Given the description of an element on the screen output the (x, y) to click on. 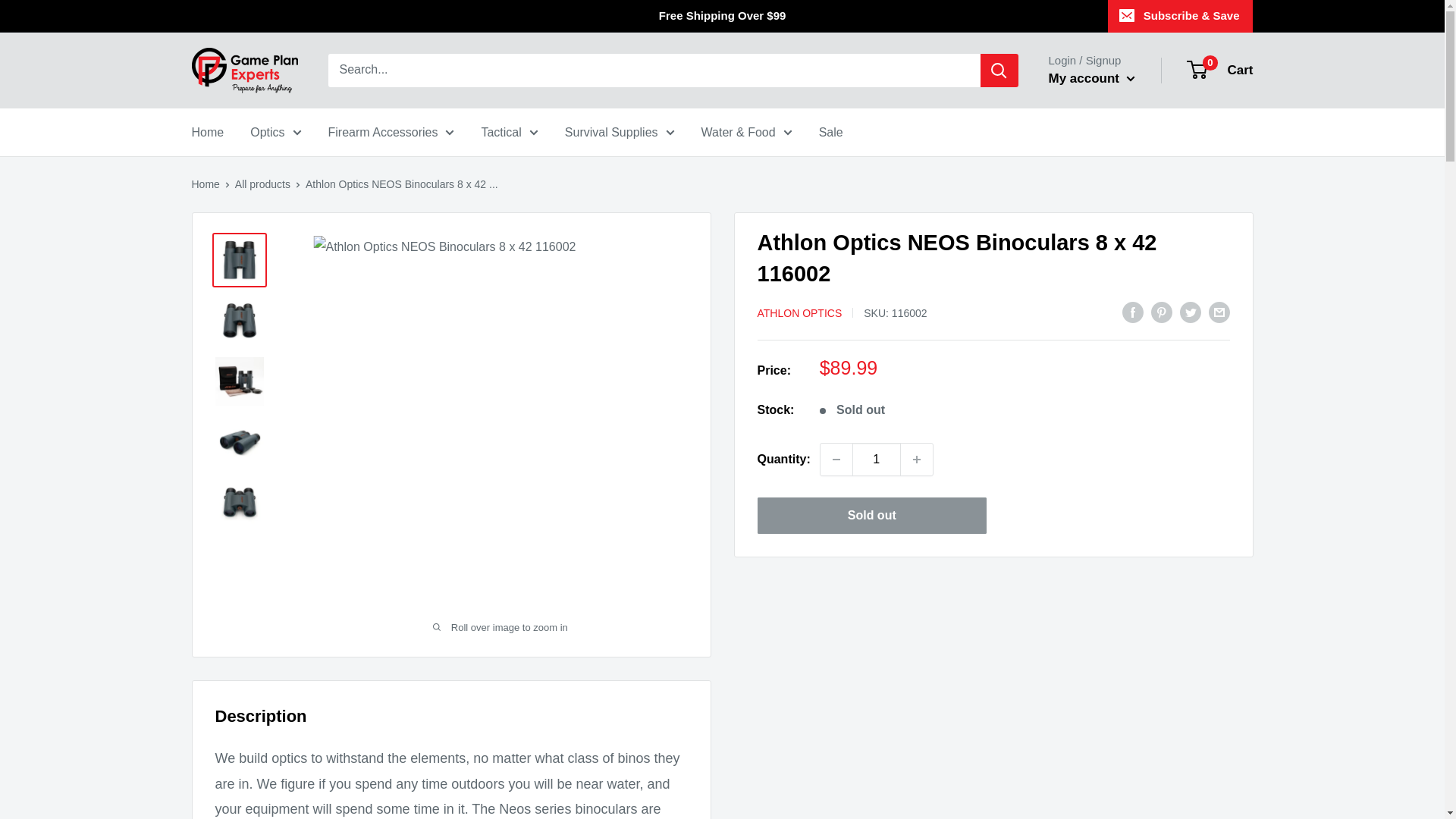
Increase quantity by 1 (917, 459)
1 (876, 459)
Decrease quantity by 1 (836, 459)
